Given the description of an element on the screen output the (x, y) to click on. 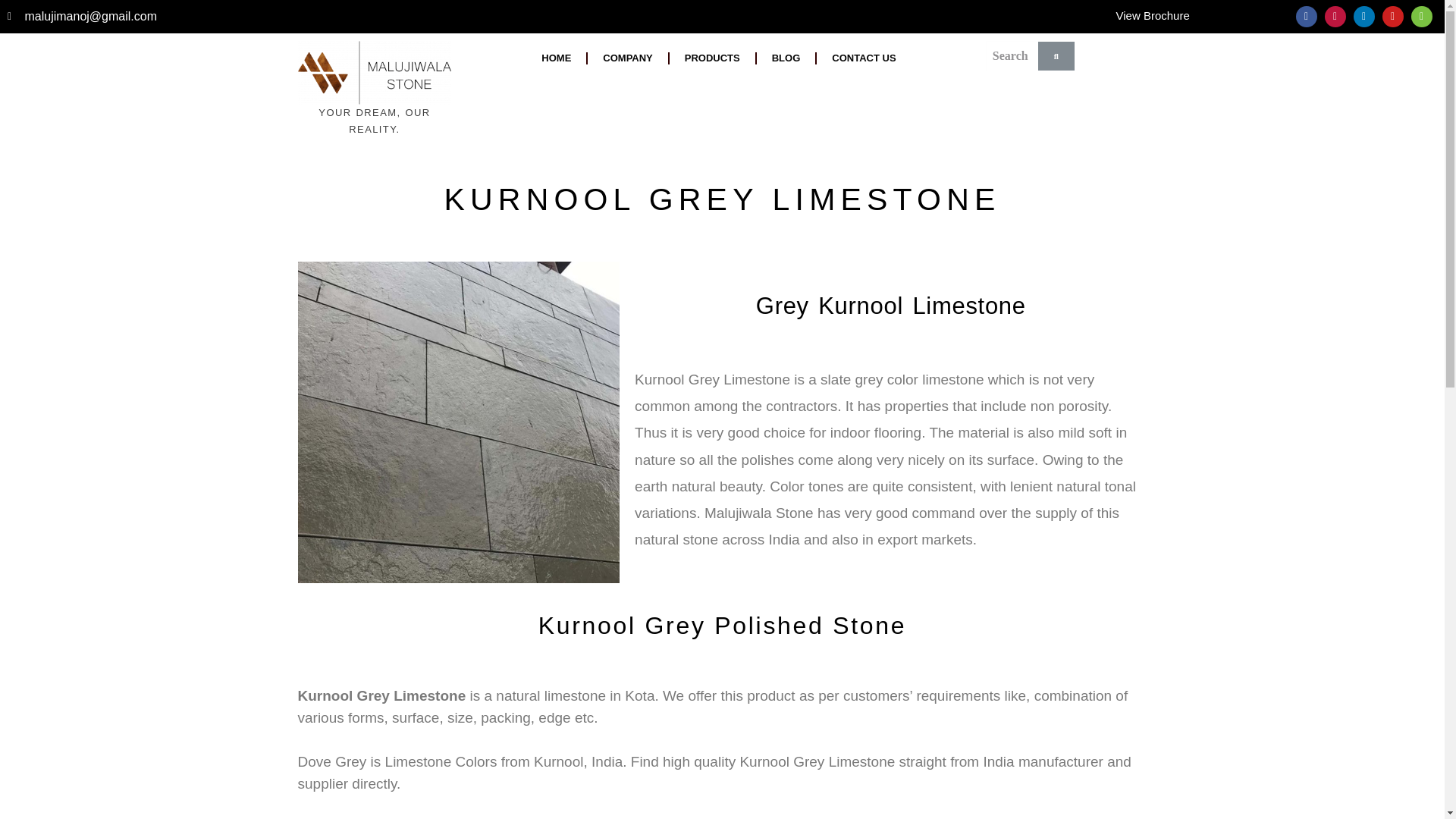
Linkedin (1364, 16)
Instagram (1334, 16)
Search (1012, 55)
View Brochure (1152, 15)
COMPANY (627, 58)
Youtube (1392, 16)
HOME (555, 58)
Facebook (1306, 16)
Houzz (1421, 16)
PRODUCTS (712, 58)
